Given the description of an element on the screen output the (x, y) to click on. 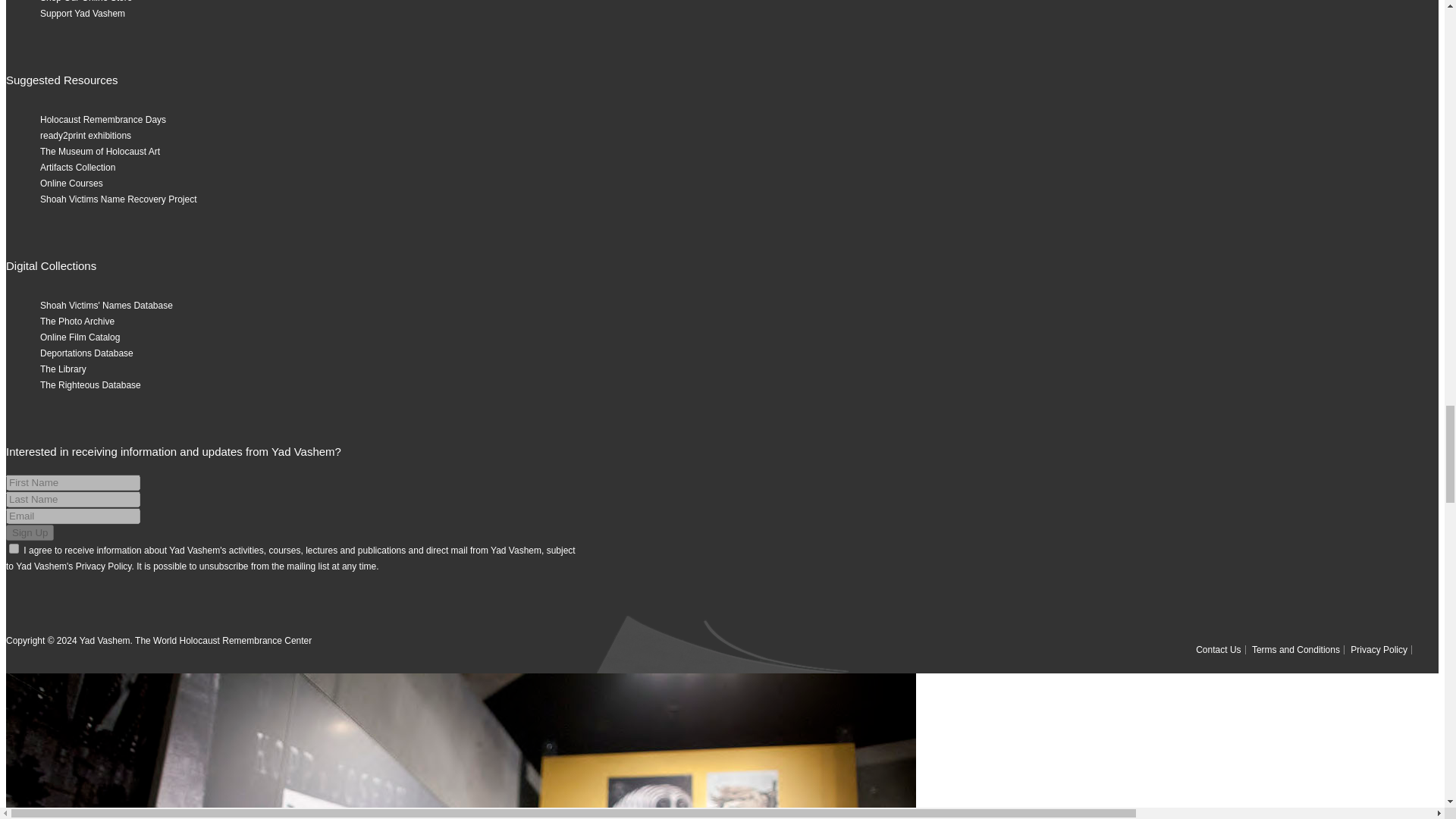
on (13, 548)
